Given the description of an element on the screen output the (x, y) to click on. 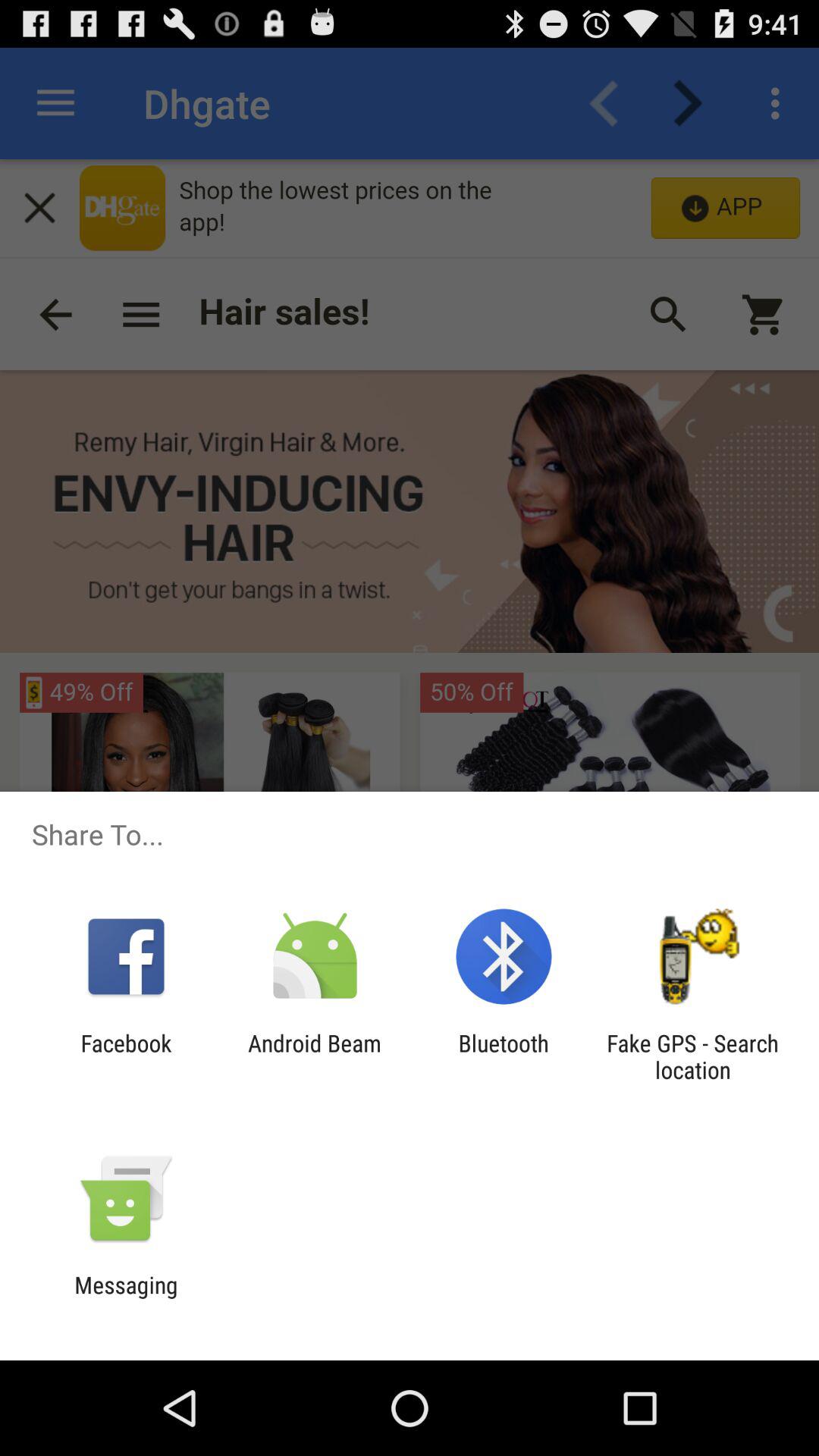
select icon to the left of fake gps search app (503, 1056)
